Given the description of an element on the screen output the (x, y) to click on. 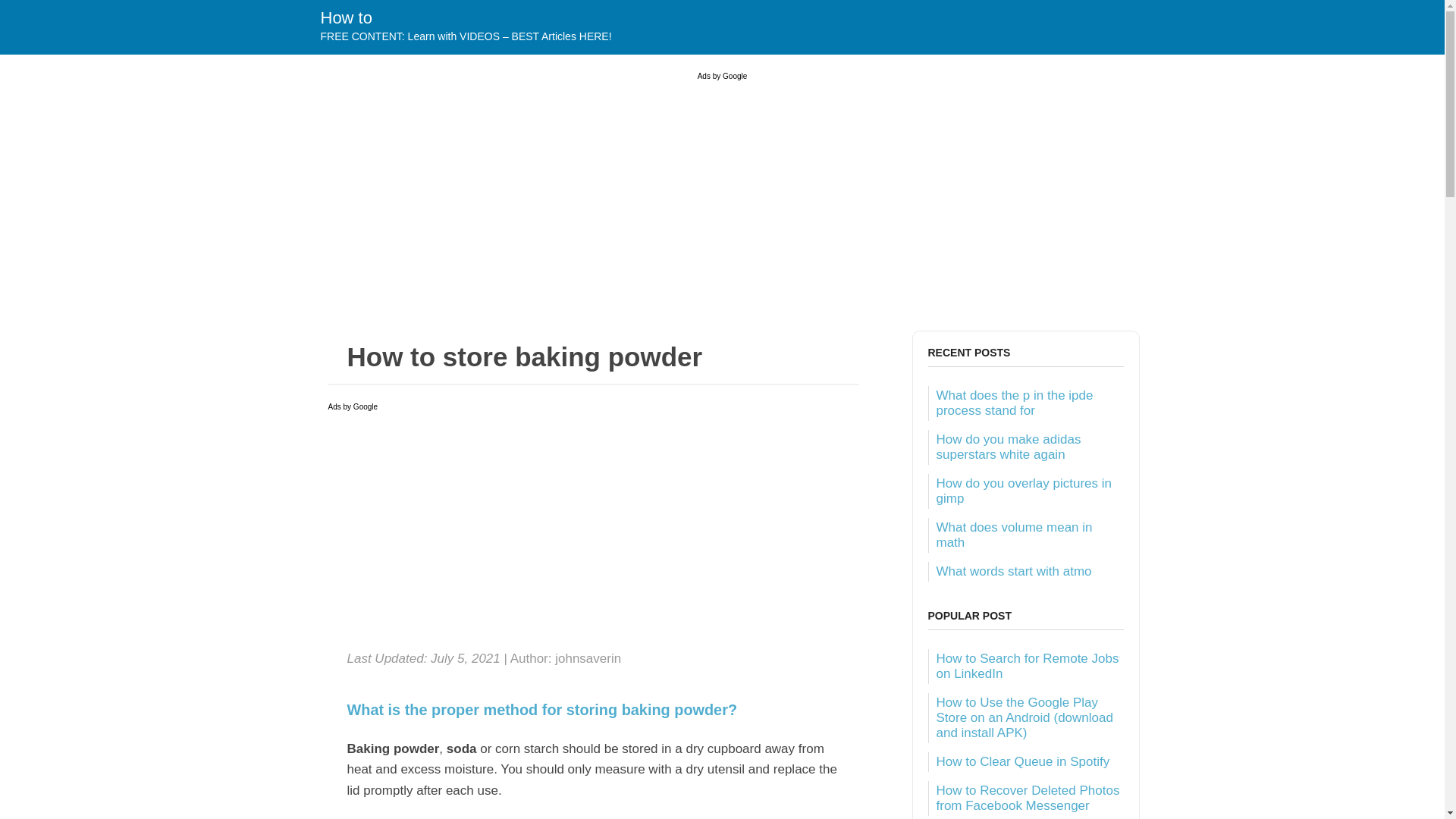
johnsaverin (587, 658)
Advertisement (593, 531)
What is the proper method for storing baking powder? (593, 710)
